Given the description of an element on the screen output the (x, y) to click on. 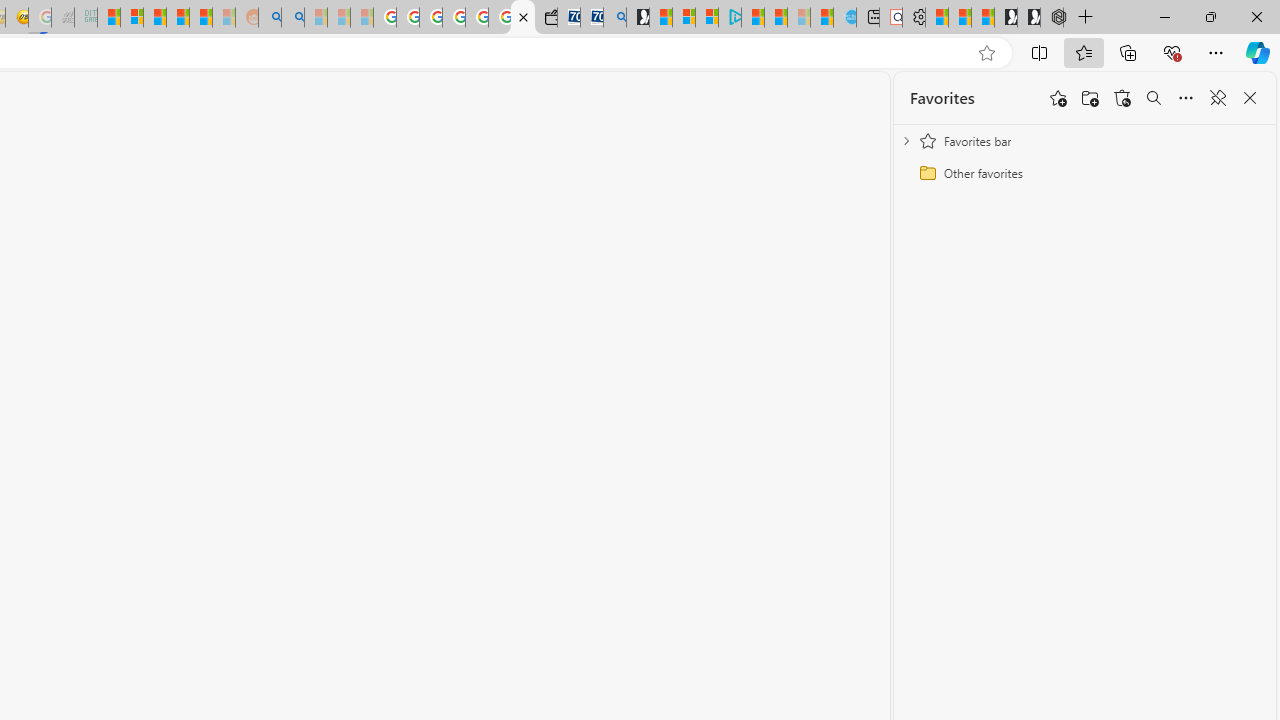
Unpin favorites (1217, 98)
